Given the description of an element on the screen output the (x, y) to click on. 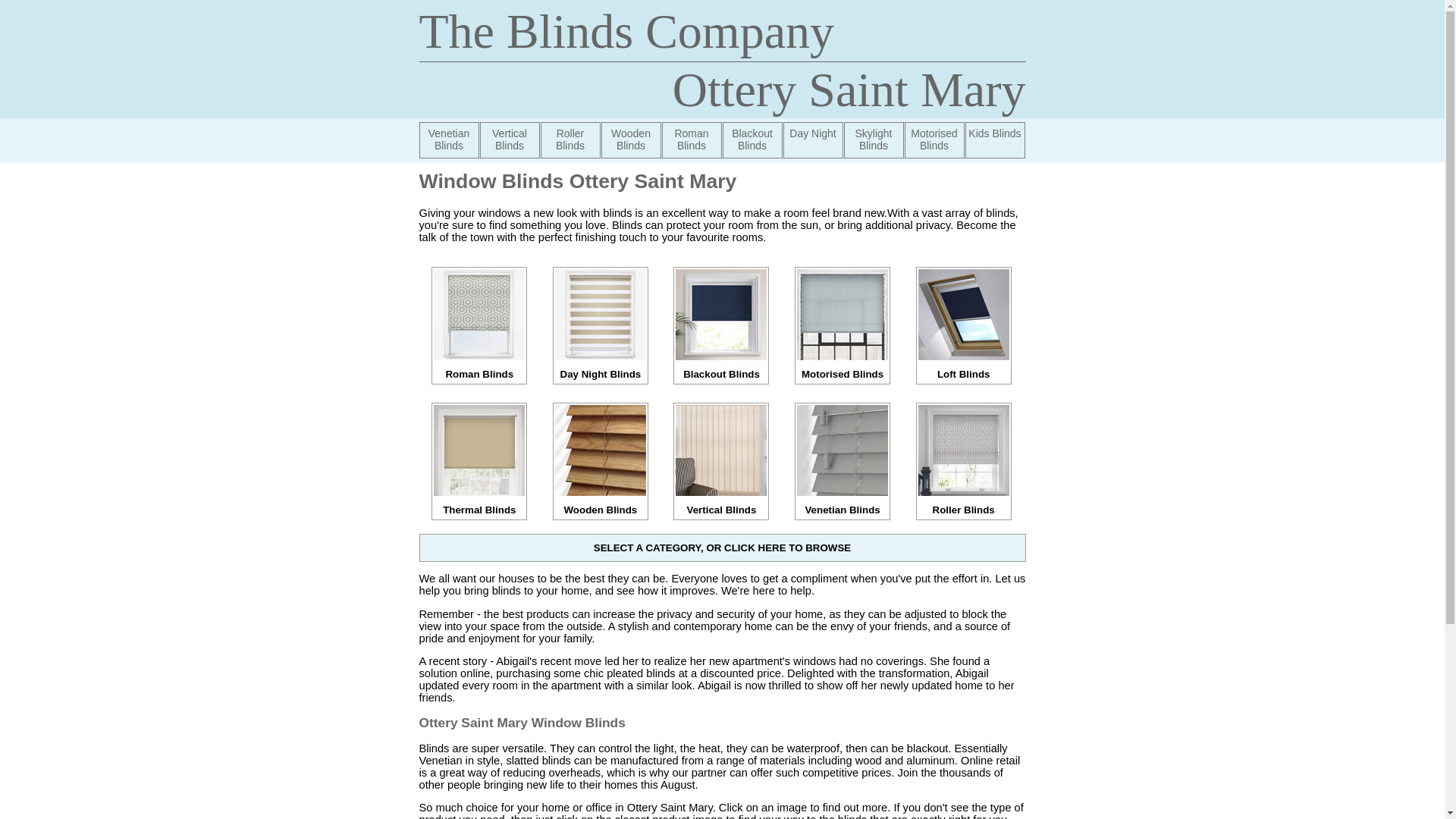
Vertical Blinds (508, 140)
Venetian Blinds (449, 140)
Roman Blinds (478, 368)
Wooden Blinds Ottery Saint Mary (630, 140)
Roller Blinds (569, 140)
Day Night (813, 140)
Motorised Blinds (933, 140)
Thermal Blinds (478, 504)
Wooden Blinds (600, 504)
Blackout Blinds Ottery Saint Mary (751, 140)
